Given the description of an element on the screen output the (x, y) to click on. 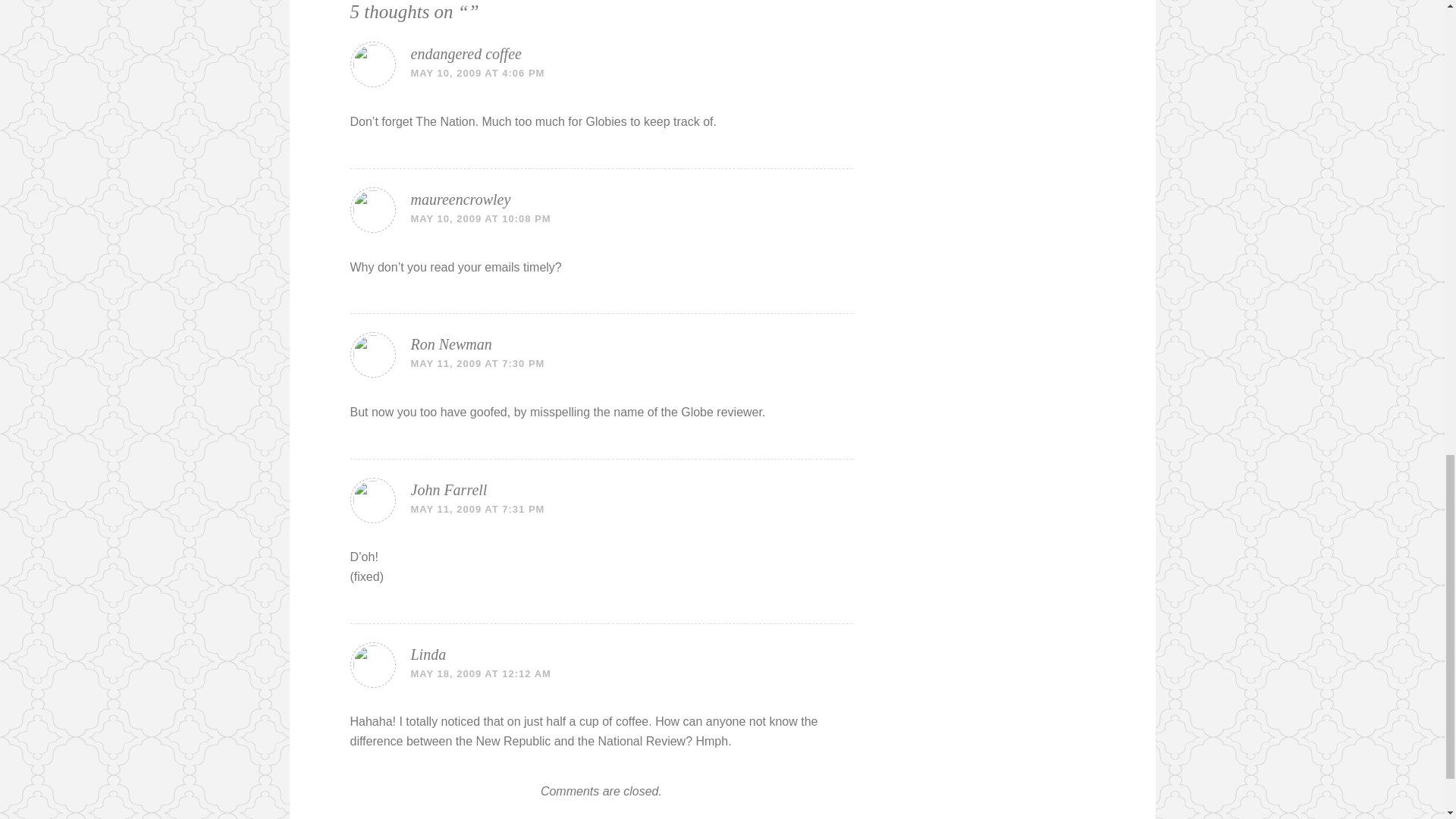
MAY 10, 2009 AT 4:06 PM (477, 72)
Ron Newman (451, 343)
MAY 18, 2009 AT 12:12 AM (480, 673)
MAY 10, 2009 AT 10:08 PM (480, 218)
John Farrell (448, 489)
MAY 11, 2009 AT 7:30 PM (477, 363)
MAY 11, 2009 AT 7:31 PM (477, 509)
maureencrowley (460, 199)
endangered coffee (465, 53)
Linda (428, 654)
